Given the description of an element on the screen output the (x, y) to click on. 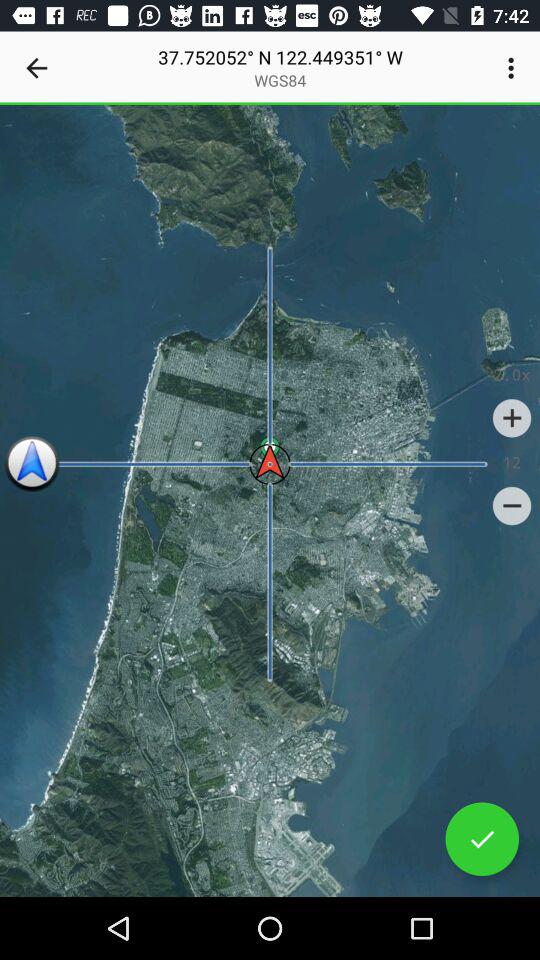
click item at the bottom right corner (482, 839)
